Given the description of an element on the screen output the (x, y) to click on. 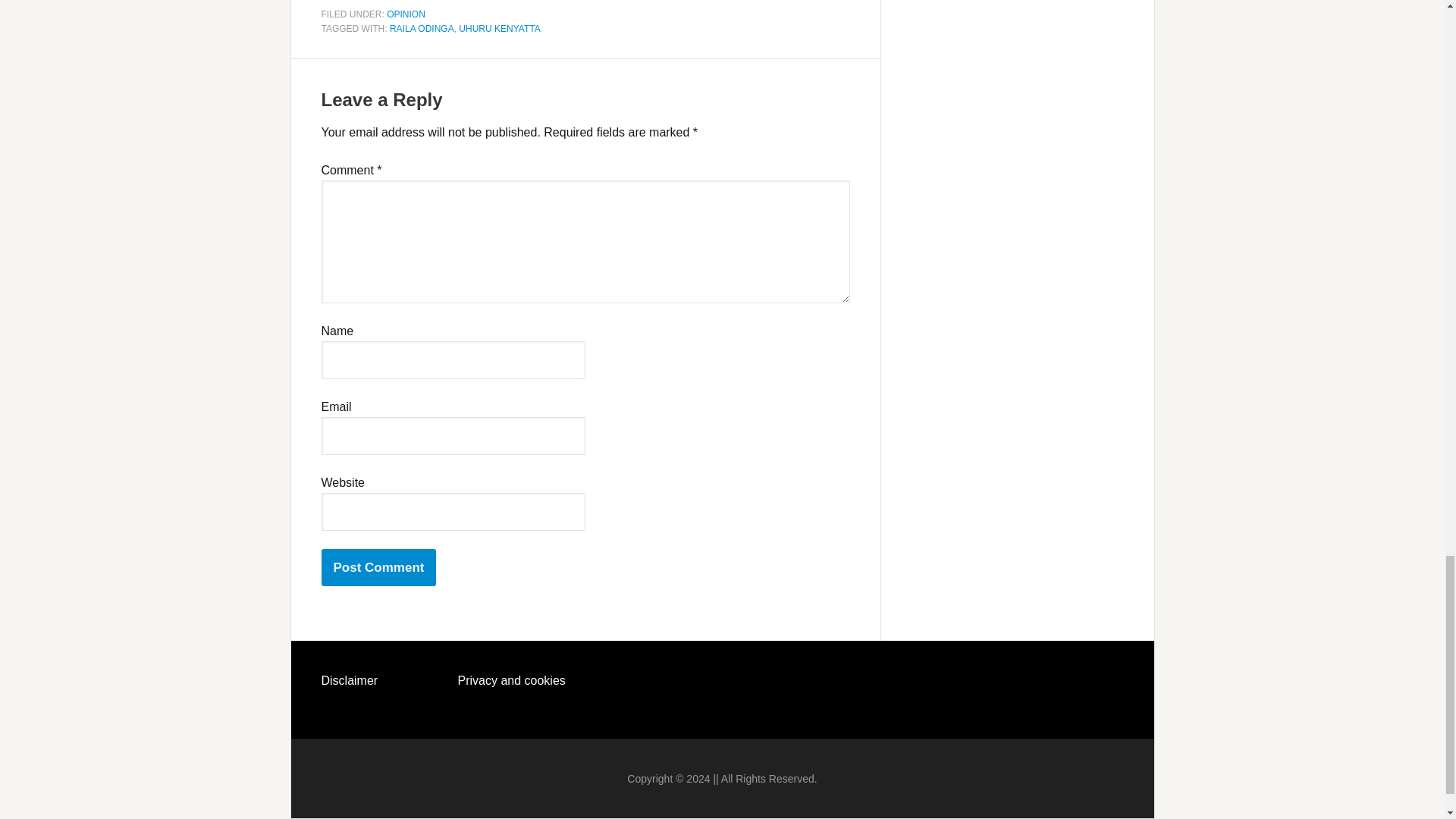
UHURU KENYATTA (499, 28)
RAILA ODINGA (422, 28)
Post Comment (378, 567)
OPINION (406, 13)
Post Comment (378, 567)
